Given the description of an element on the screen output the (x, y) to click on. 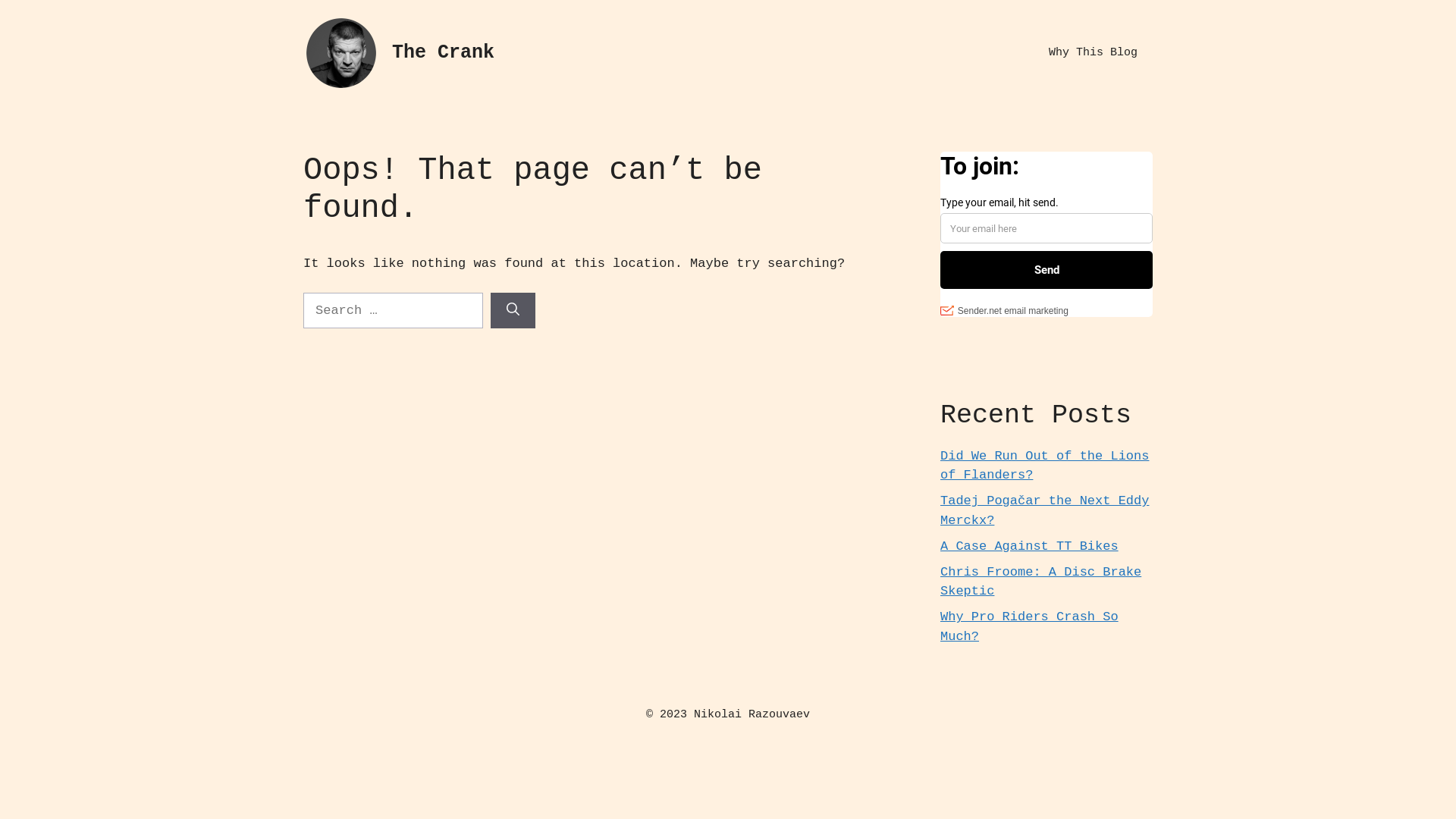
Did We Run Out of the Lions of Flanders? Element type: text (1044, 465)
Search for: Element type: hover (393, 310)
A Case Against TT Bikes Element type: text (1029, 546)
Why Pro Riders Crash So Much? Element type: text (1029, 626)
Chris Froome: A Disc Brake Skeptic Element type: text (1040, 581)
Why This Blog Element type: text (1092, 52)
The Crank Element type: text (443, 52)
